Given the description of an element on the screen output the (x, y) to click on. 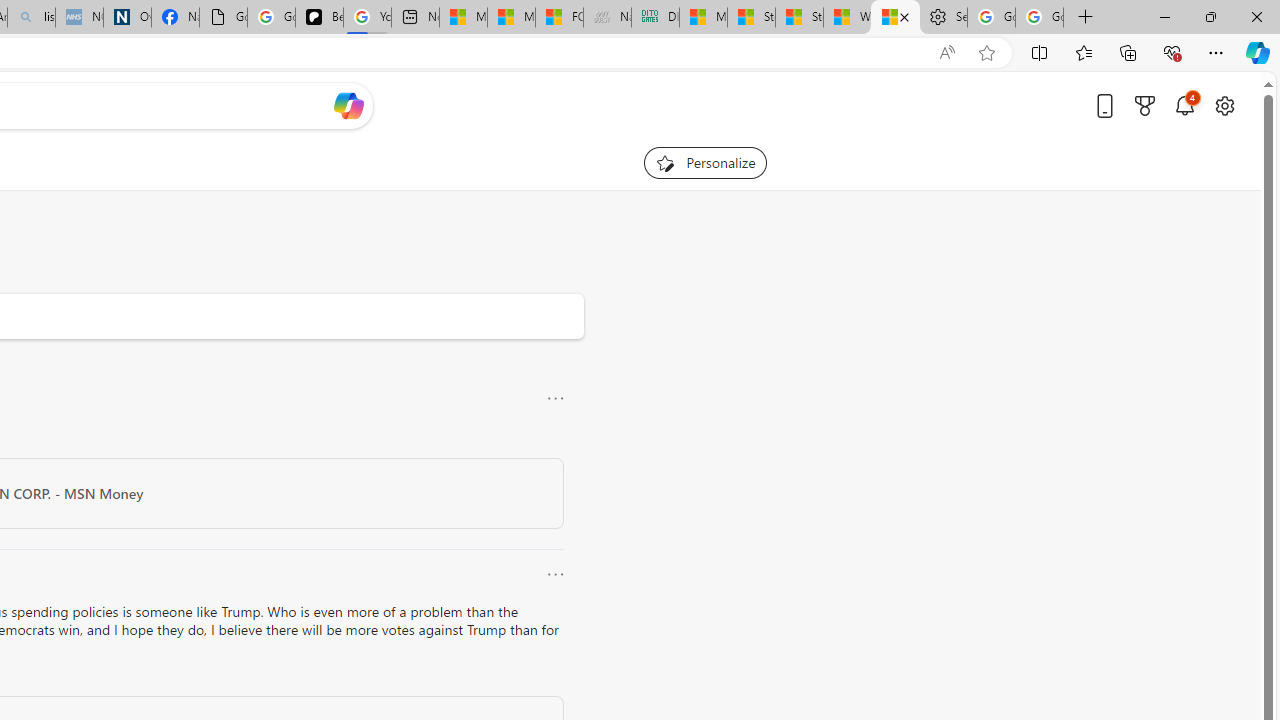
Google Analytics Opt-out Browser Add-on Download Page (223, 17)
Personalize your feed" (704, 162)
